Given the description of an element on the screen output the (x, y) to click on. 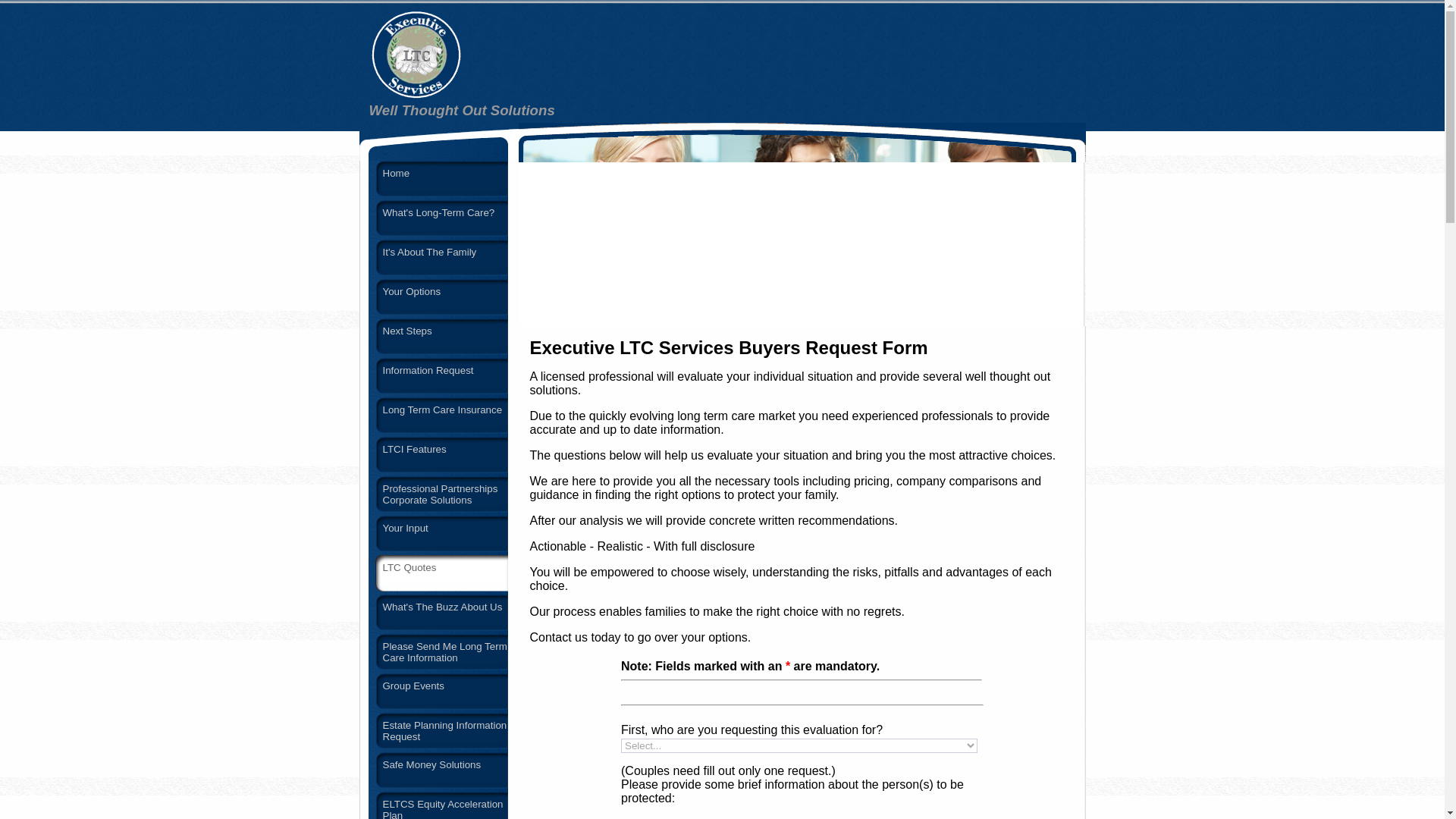
Estate Planning Information Request (438, 732)
It's About The Family (438, 259)
Long Term Care Insurance (438, 416)
LTCI Features (438, 455)
Professional Partnerships Corporate Solutions (438, 495)
Your Input (438, 535)
Home (438, 179)
Please Send Me Long Term Care Information (438, 653)
Group Events (438, 692)
Logo (415, 55)
